Given the description of an element on the screen output the (x, y) to click on. 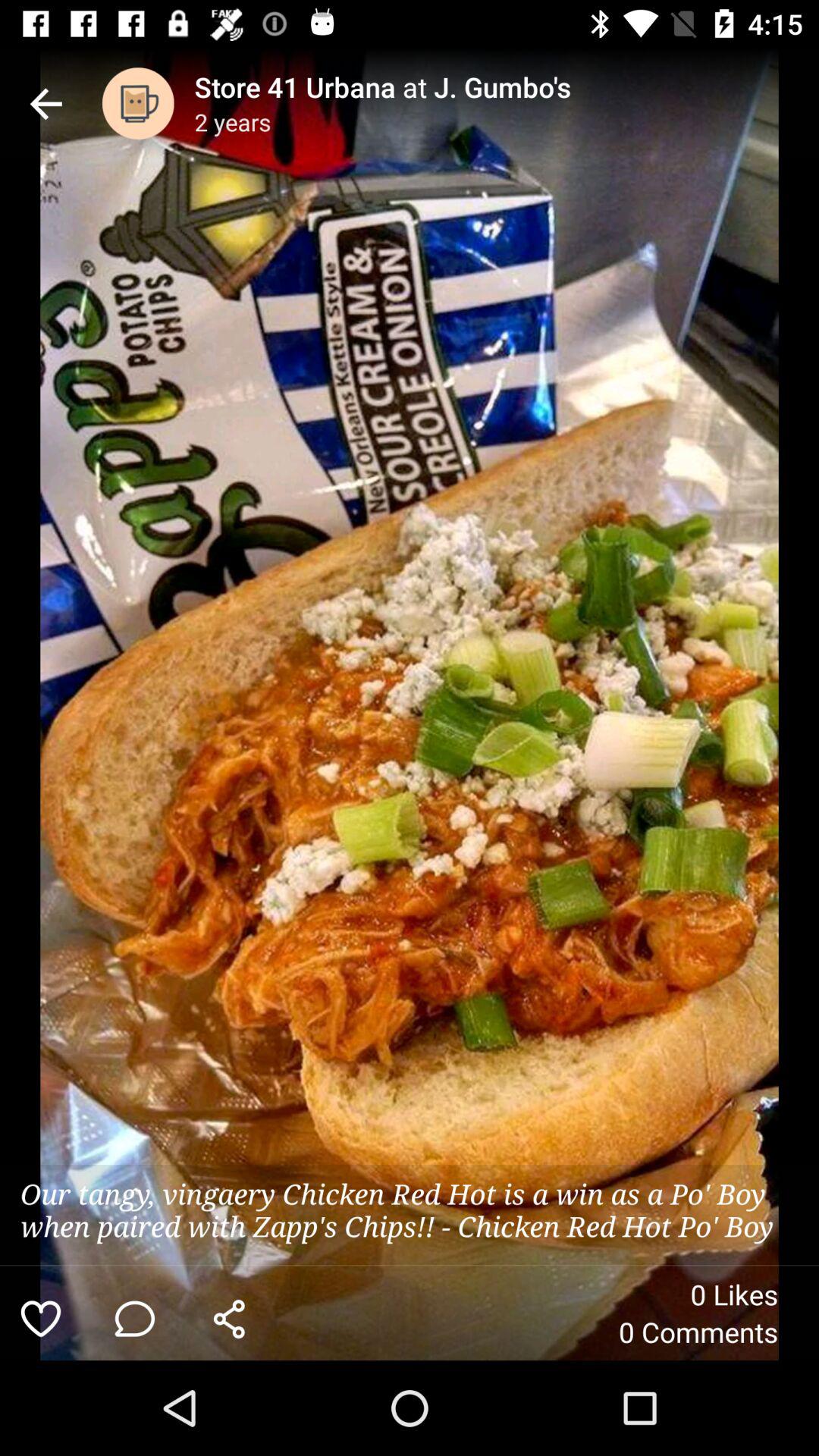
open icon next to the store 41 urbana item (138, 103)
